Given the description of an element on the screen output the (x, y) to click on. 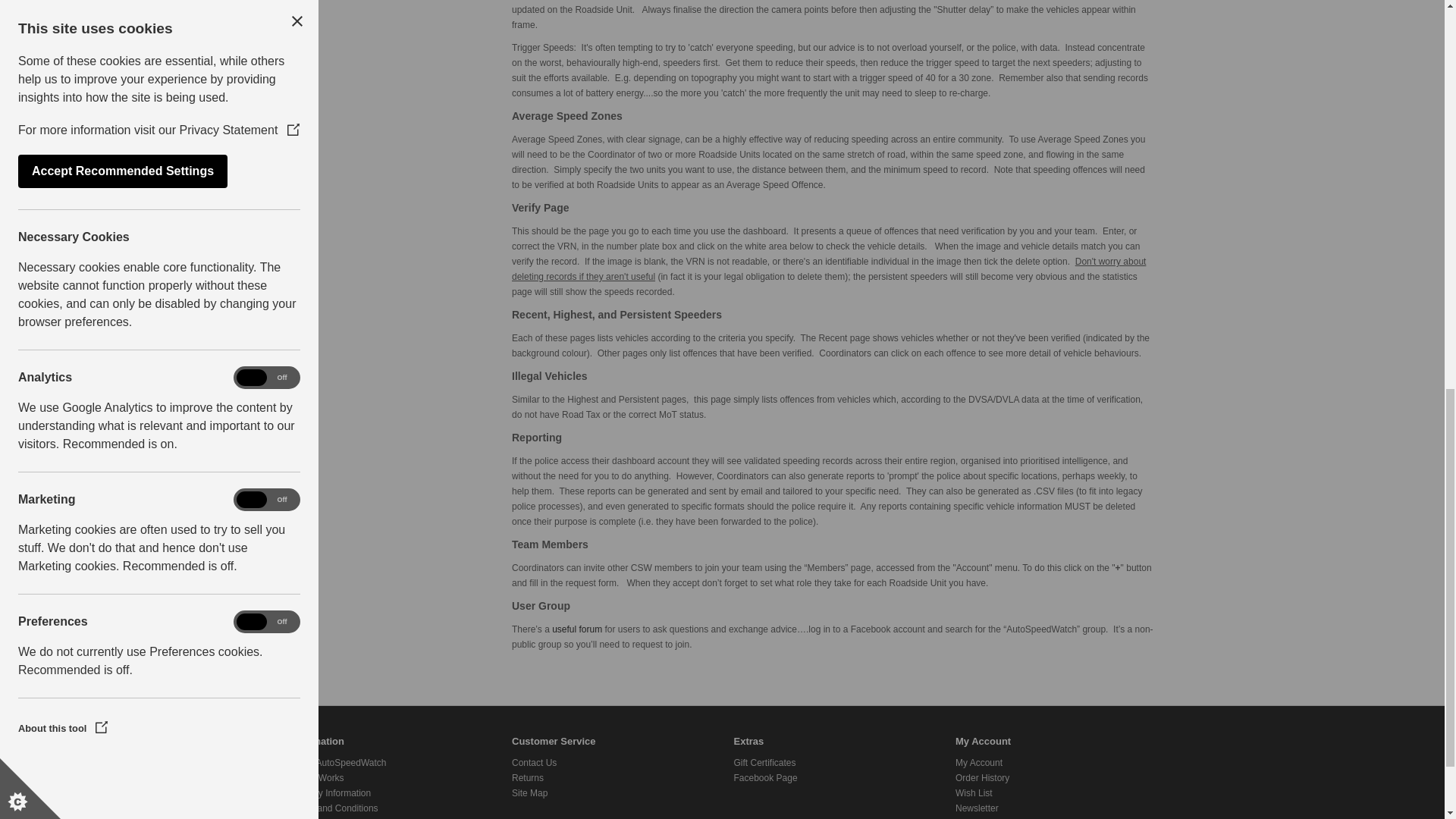
How It Works (316, 777)
Terms and Conditions (333, 808)
About AutoSpeedWatch (337, 762)
Order History (982, 777)
Wish List (973, 792)
My Account (979, 762)
Contact Us (534, 762)
Returns (527, 777)
Facebook Page (765, 777)
